Given the description of an element on the screen output the (x, y) to click on. 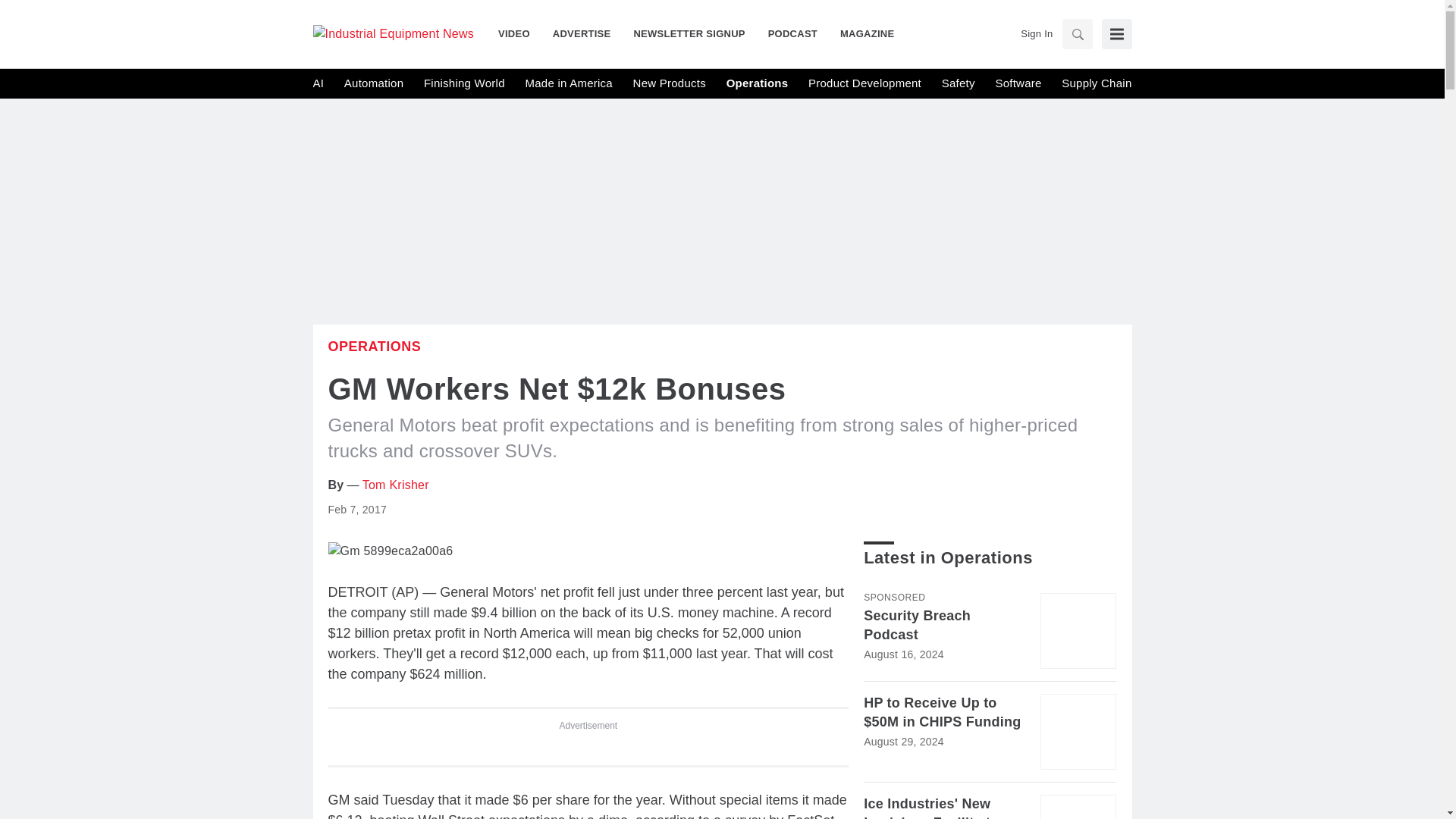
Software (1017, 83)
Safety (958, 83)
Operations (373, 346)
Sign In (1036, 33)
Sponsored (893, 596)
NEWSLETTER SIGNUP (688, 33)
Finishing World (464, 83)
ADVERTISE (582, 33)
Product Development (864, 83)
VIDEO (519, 33)
